Given the description of an element on the screen output the (x, y) to click on. 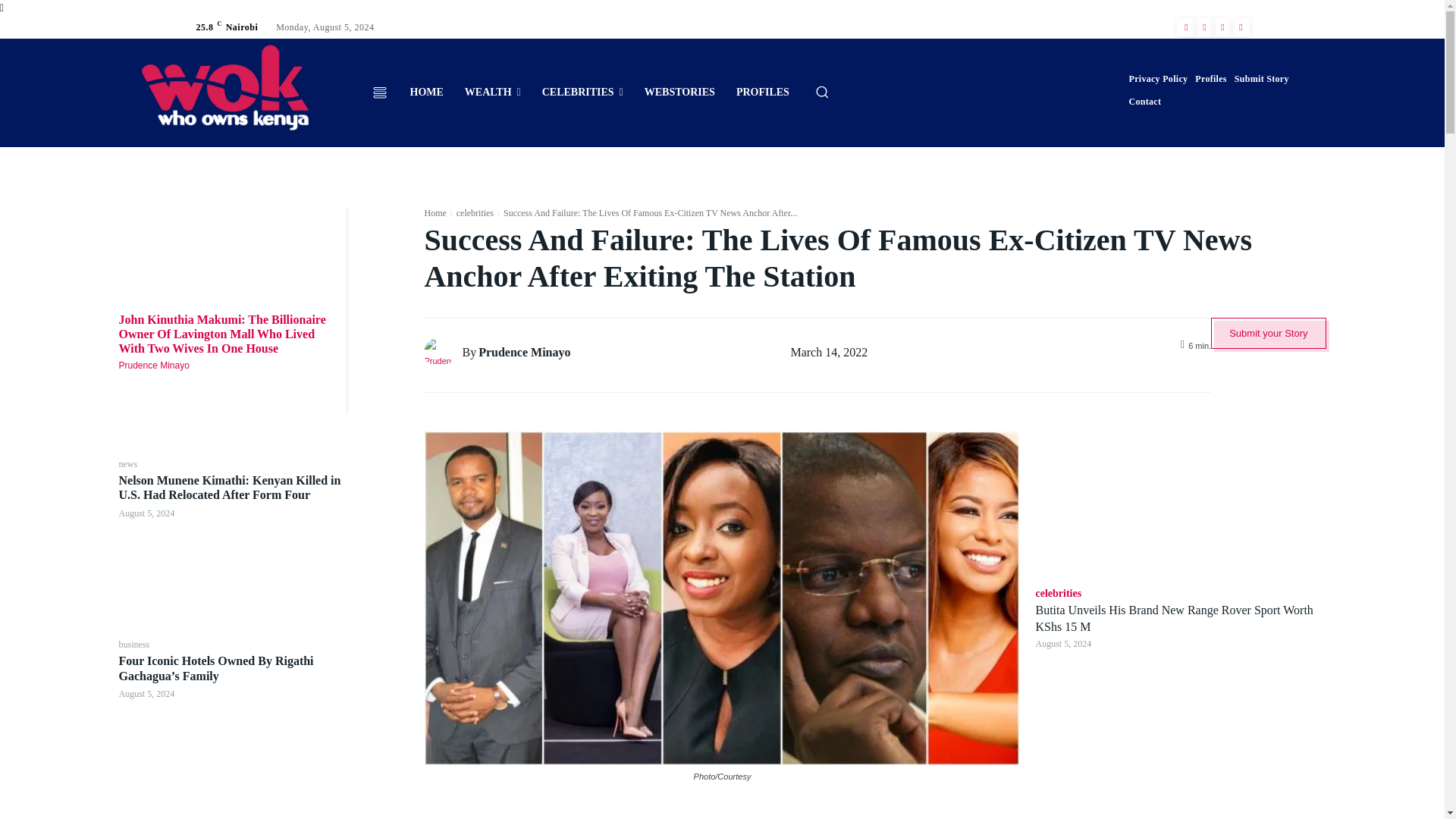
Instagram (1203, 27)
Twitter (1221, 27)
Facebook (1185, 27)
Youtube (1240, 27)
